Given the description of an element on the screen output the (x, y) to click on. 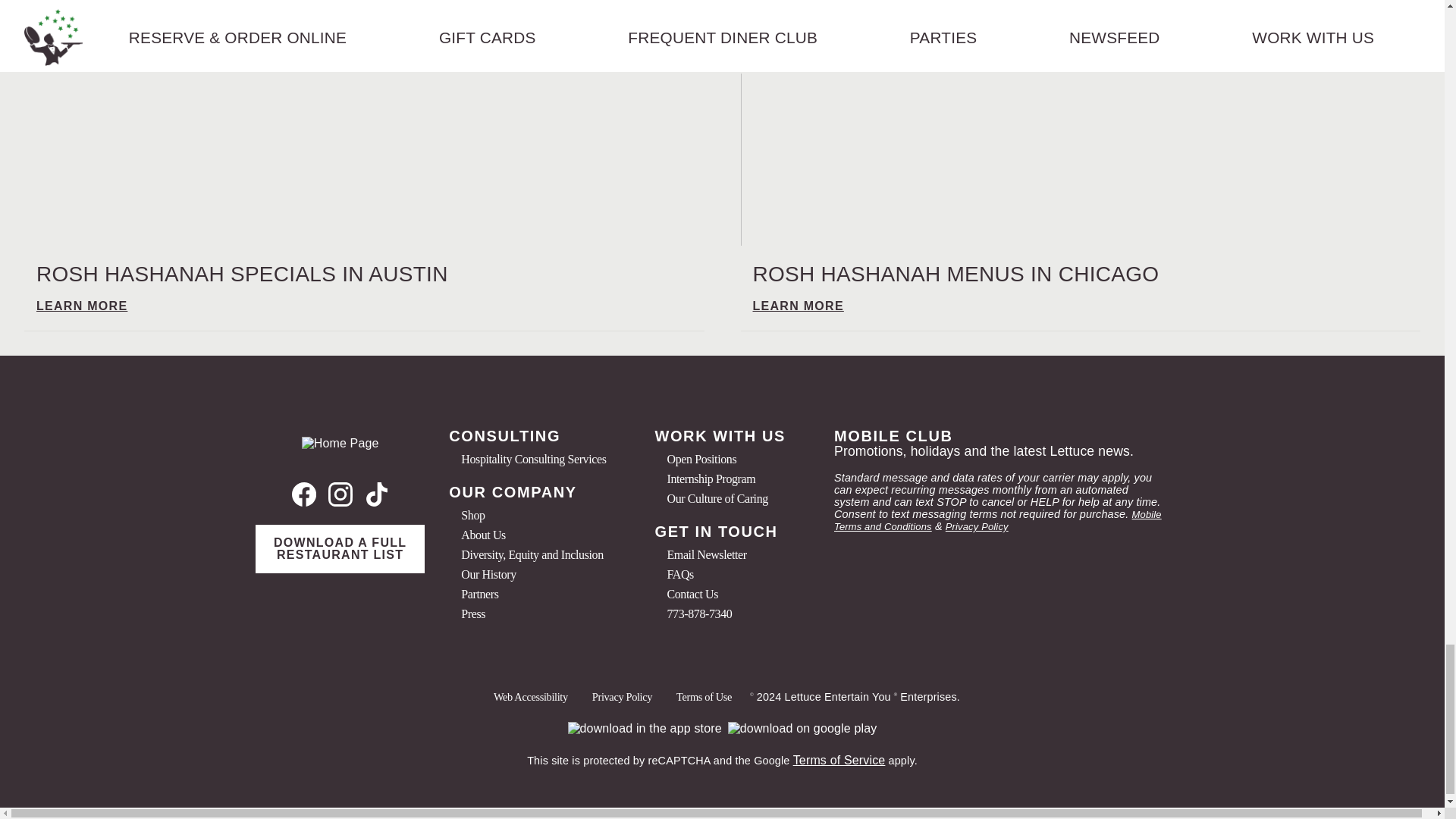
Press (472, 614)
Diversity, Equity and Inclusion (531, 555)
Shop (472, 515)
Instagram (339, 495)
Our Culture of Caring (716, 498)
About Us (483, 535)
Open Positions (701, 459)
Facebook (306, 494)
Contact Us (691, 594)
Instagram (339, 494)
